Given the description of an element on the screen output the (x, y) to click on. 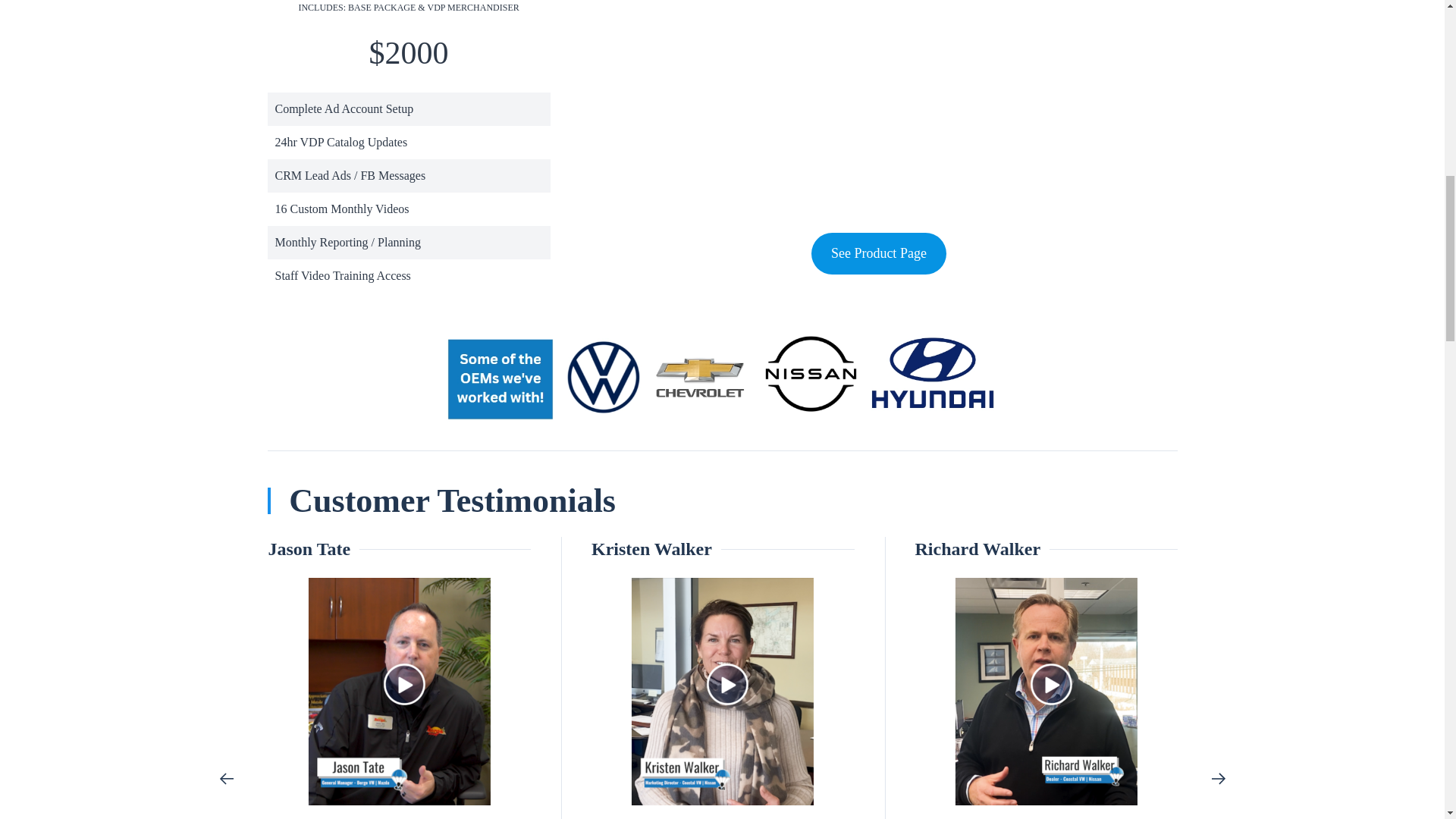
Full Agency Overview Video (878, 108)
See Product Page (878, 253)
